Given the description of an element on the screen output the (x, y) to click on. 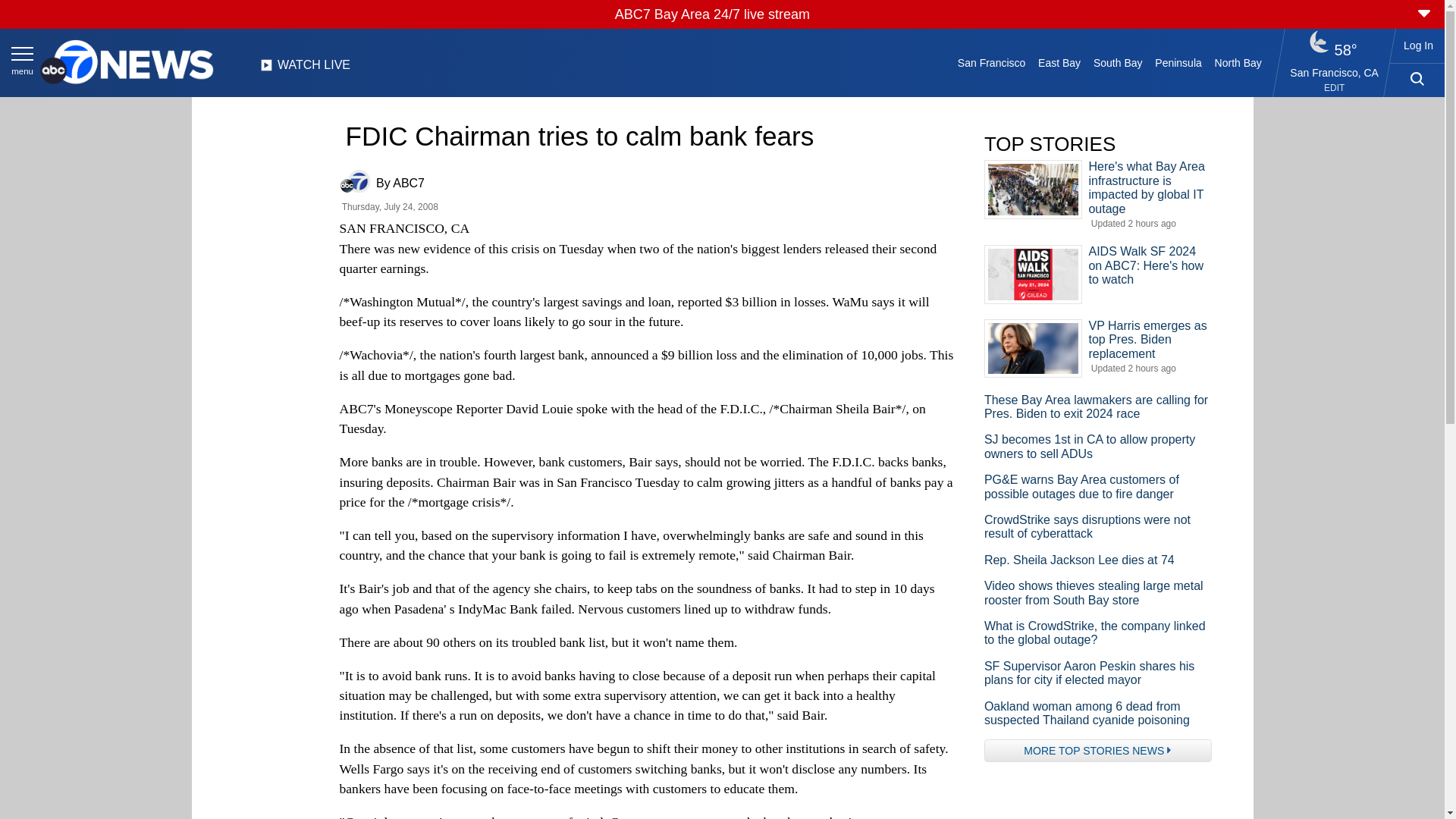
South Bay (1117, 62)
Peninsula (1178, 62)
East Bay (1059, 62)
North Bay (1238, 62)
WATCH LIVE (305, 69)
EDIT (1333, 87)
San Francisco, CA (1334, 72)
San Francisco (990, 62)
